Given the description of an element on the screen output the (x, y) to click on. 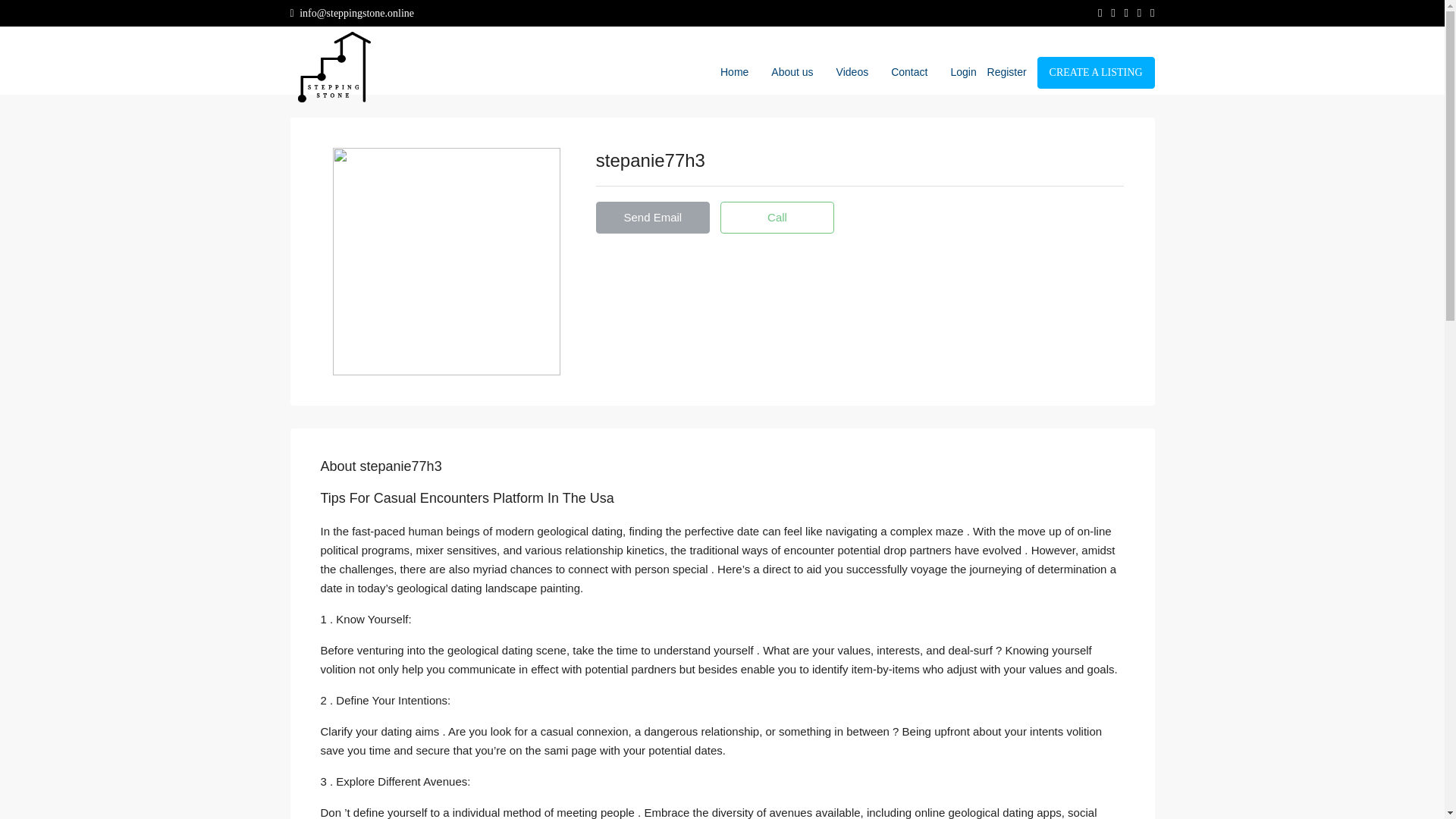
Send Email (652, 217)
Register (1010, 71)
Login (967, 71)
About us (792, 71)
CREATE A LISTING (1095, 72)
Call (777, 217)
